Given the description of an element on the screen output the (x, y) to click on. 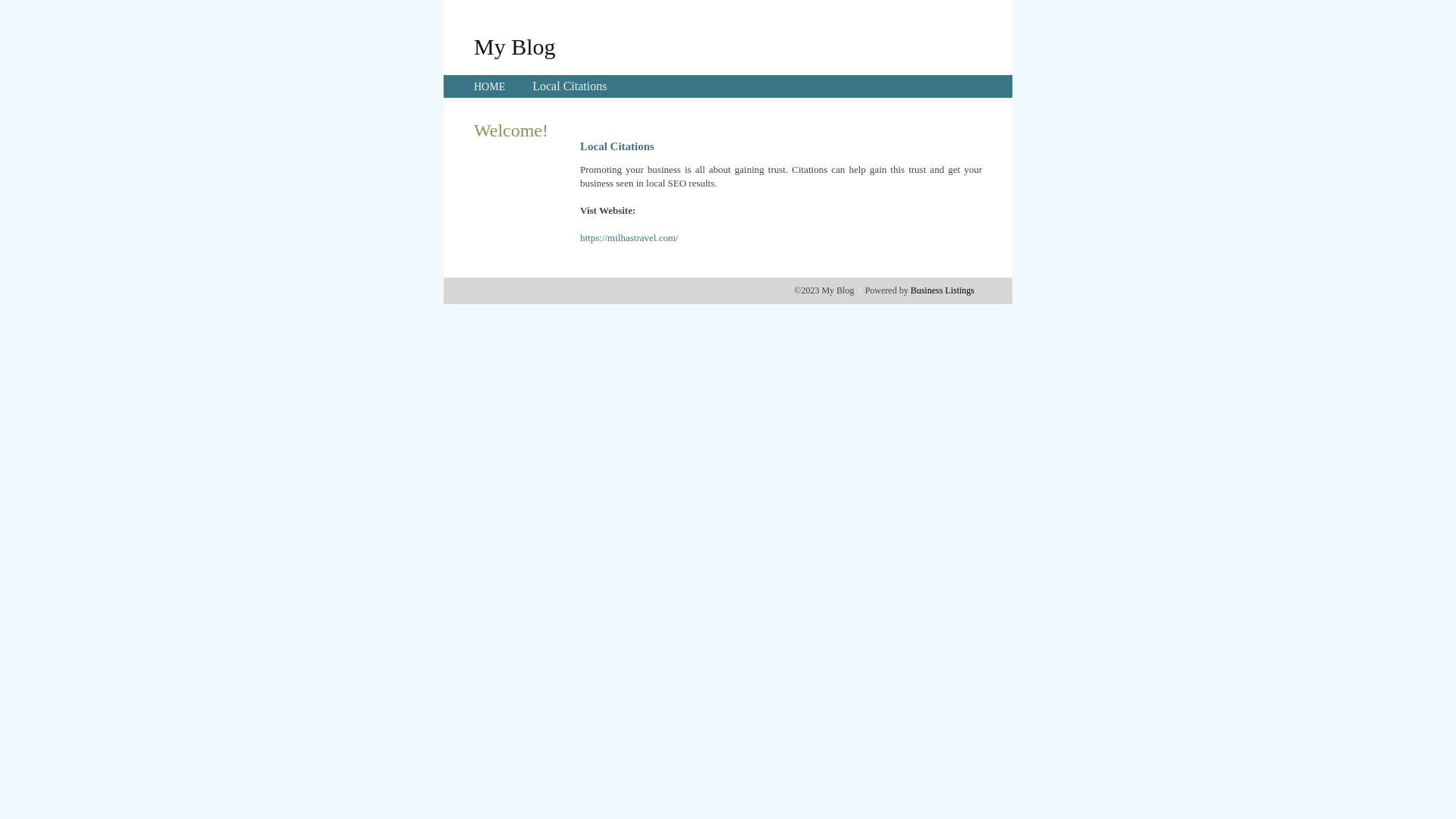
Business Listings Element type: text (942, 290)
https://milhastravel.com/ Element type: text (629, 237)
HOME Element type: text (489, 86)
Local Citations Element type: text (569, 85)
My Blog Element type: text (514, 46)
